Given the description of an element on the screen output the (x, y) to click on. 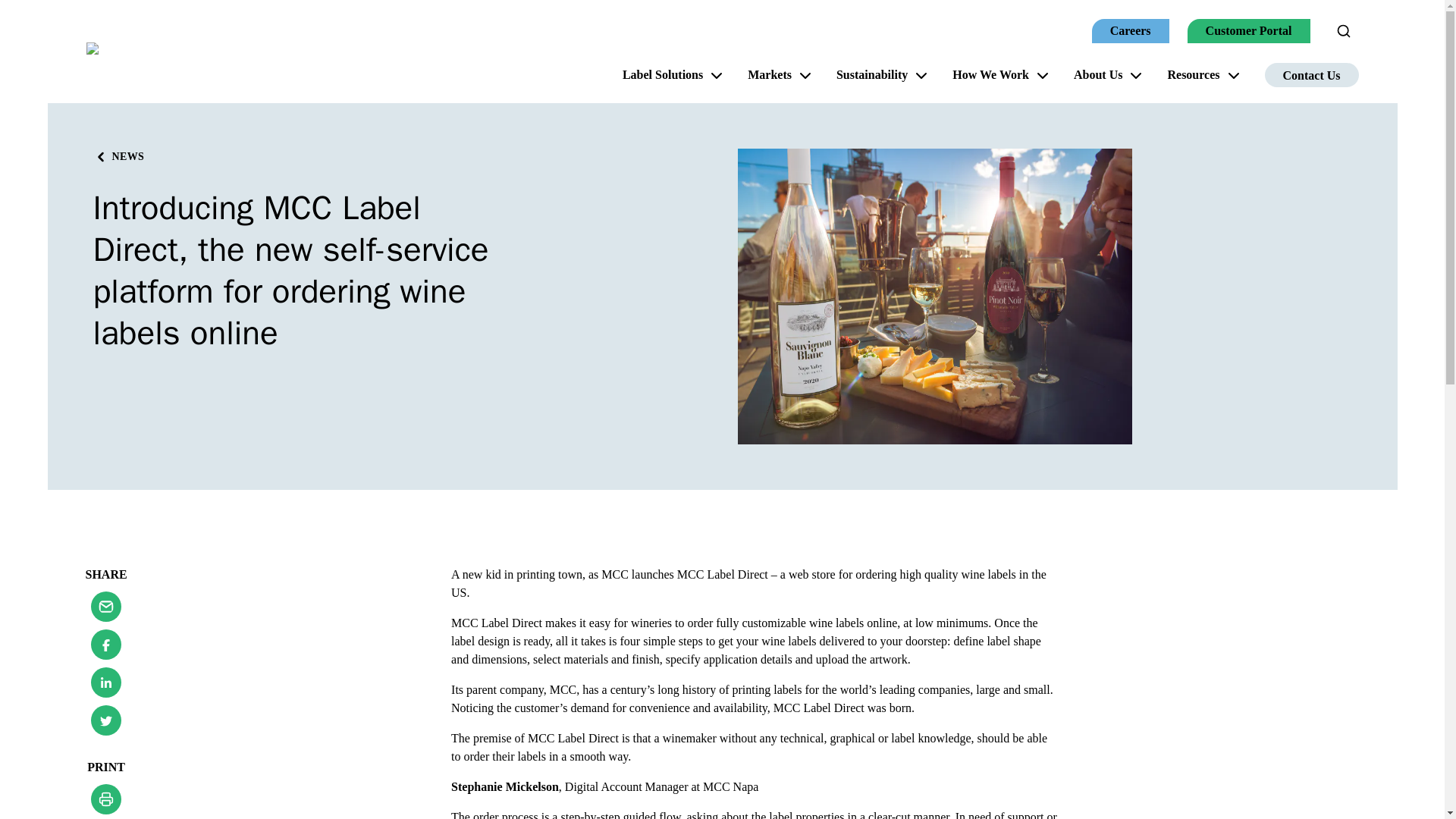
Open Search Input (1343, 30)
Contact Us (1311, 74)
About Us (1107, 75)
Careers (1130, 30)
Label Solutions (672, 75)
Markets (779, 75)
Customer Portal (1249, 30)
How We Work (1000, 75)
Resources (1203, 75)
Visit MCC Label Direct (724, 574)
